Given the description of an element on the screen output the (x, y) to click on. 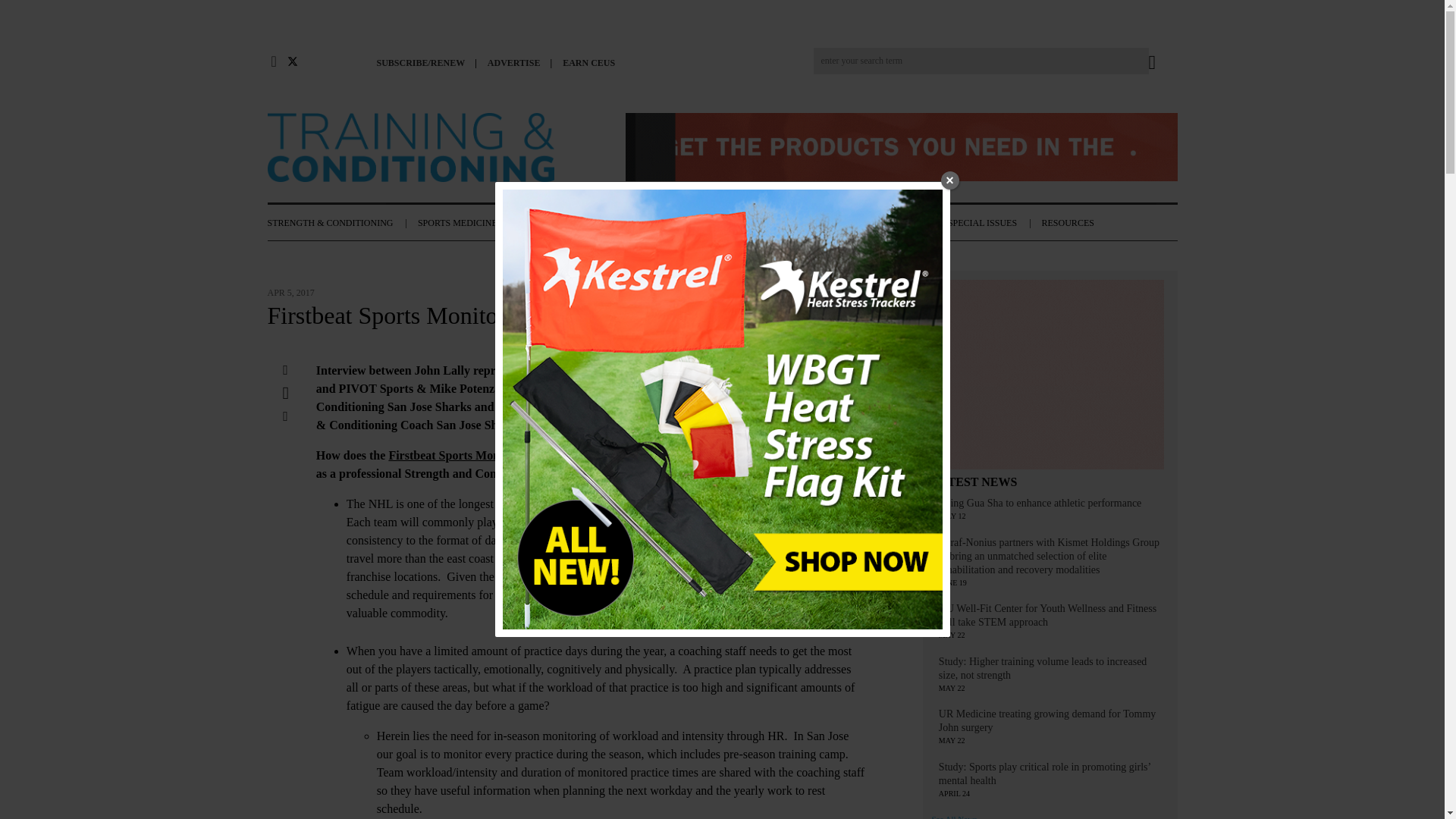
ADVERTISE (519, 62)
EARN CEUS (592, 62)
SPECIAL ISSUES (993, 222)
RESOURCES (1075, 222)
MAGAZINE (909, 222)
PLAYER SAFETY (728, 222)
CONTINUING ED (825, 222)
Purchasing Guide (900, 149)
SPORTS MEDICINE (467, 222)
Toolkit (1049, 377)
NUTRITION (556, 222)
TECHNOLOGY (637, 222)
